Given the description of an element on the screen output the (x, y) to click on. 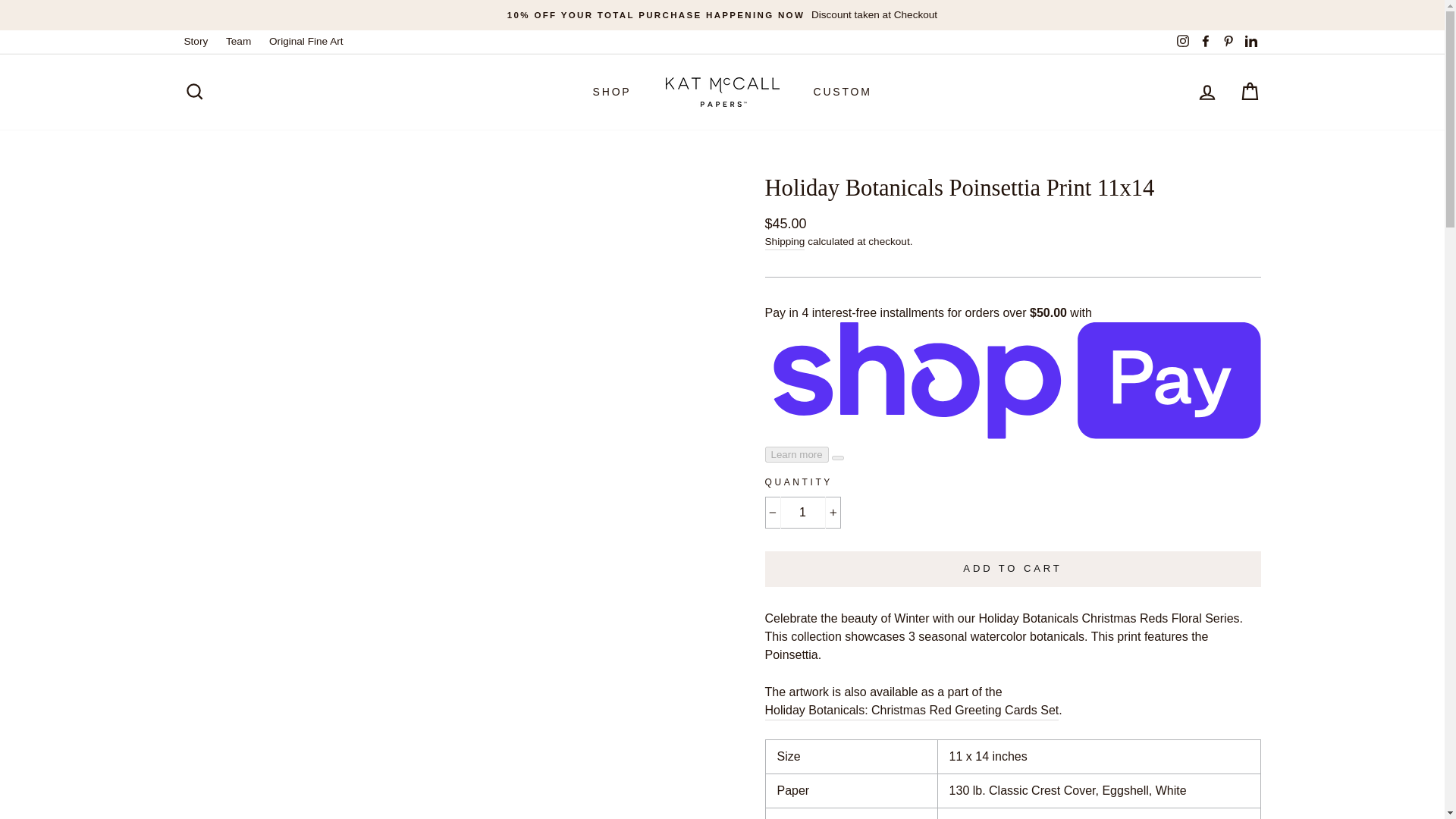
1 (802, 512)
Holiday Botanicals Christmas Reds Greeting Cards Set (911, 710)
